Given the description of an element on the screen output the (x, y) to click on. 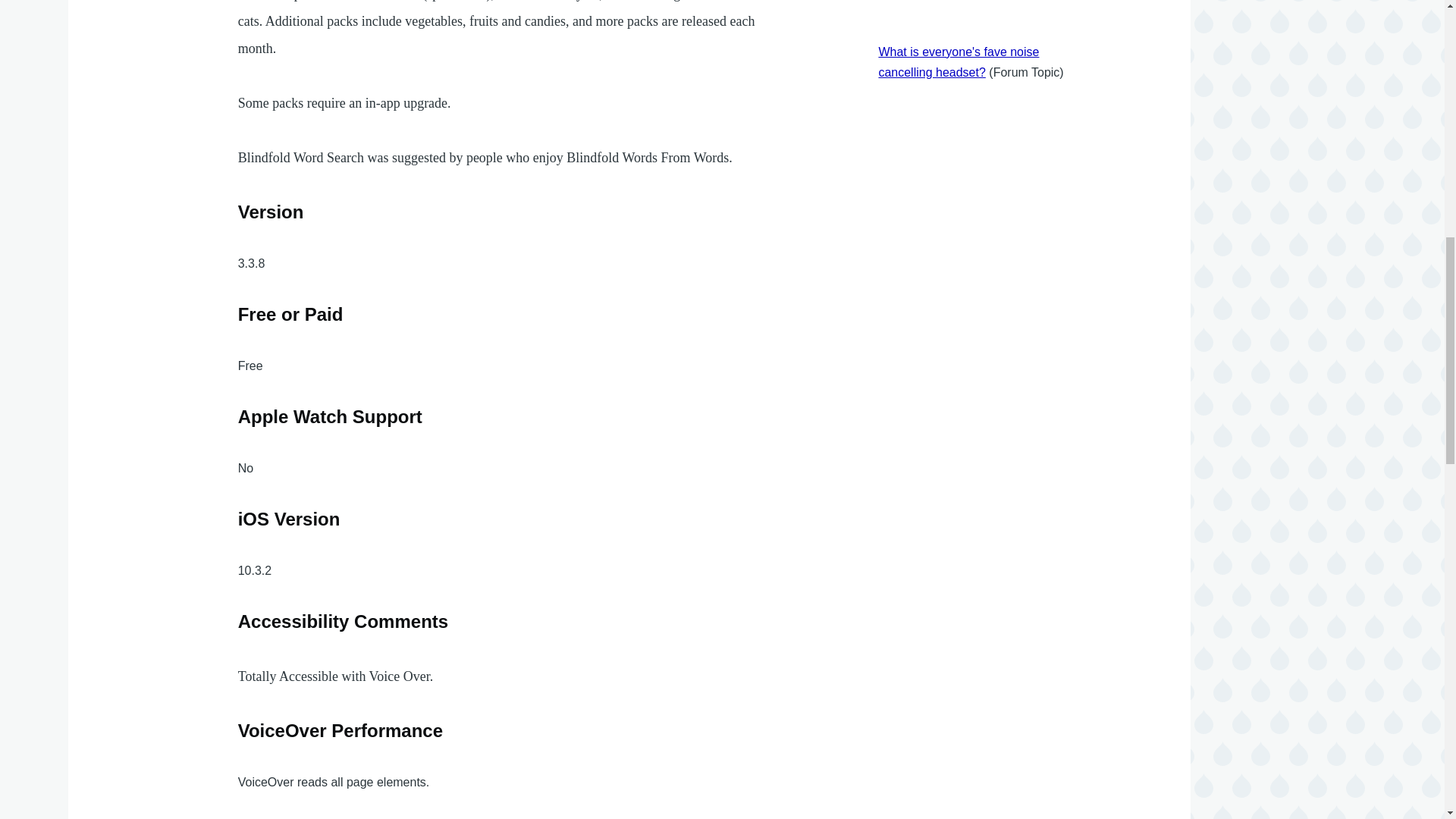
What is everyone's fave noise cancelling headset? (958, 61)
